Given the description of an element on the screen output the (x, y) to click on. 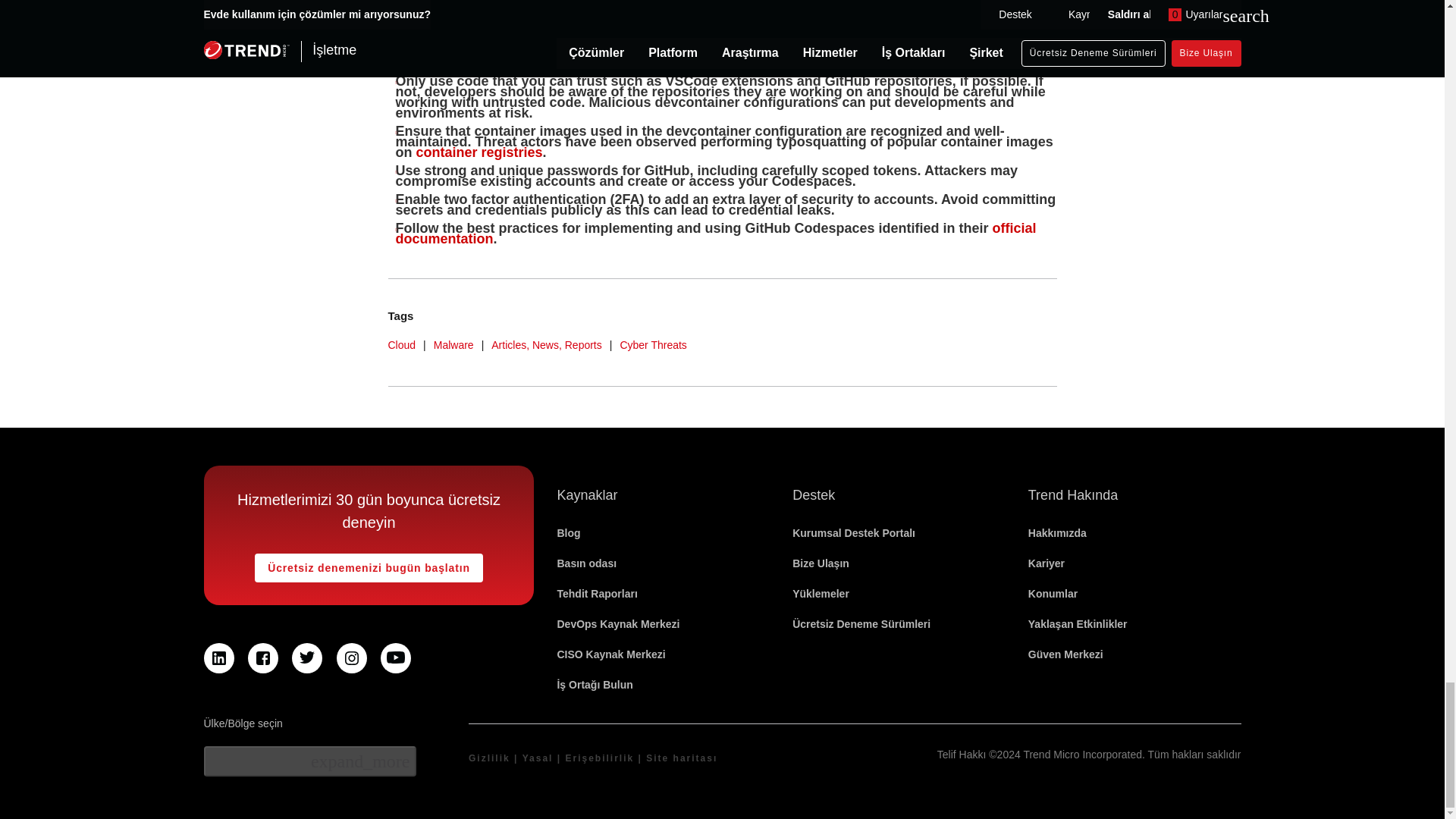
Legal (537, 757)
privacy (489, 757)
Accessibility (598, 757)
Site map (681, 757)
